Given the description of an element on the screen output the (x, y) to click on. 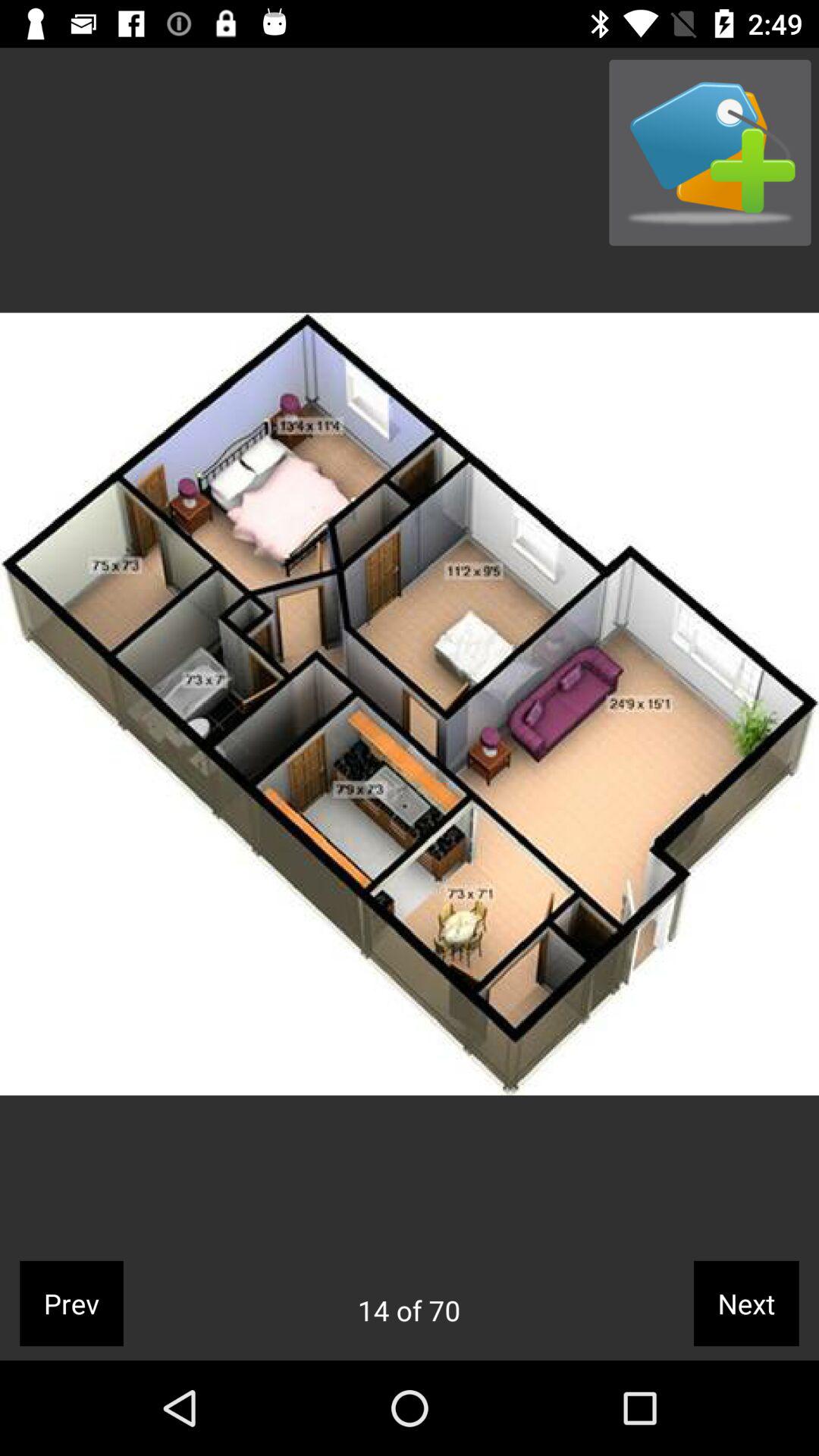
tap icon at the bottom right corner (746, 1303)
